Given the description of an element on the screen output the (x, y) to click on. 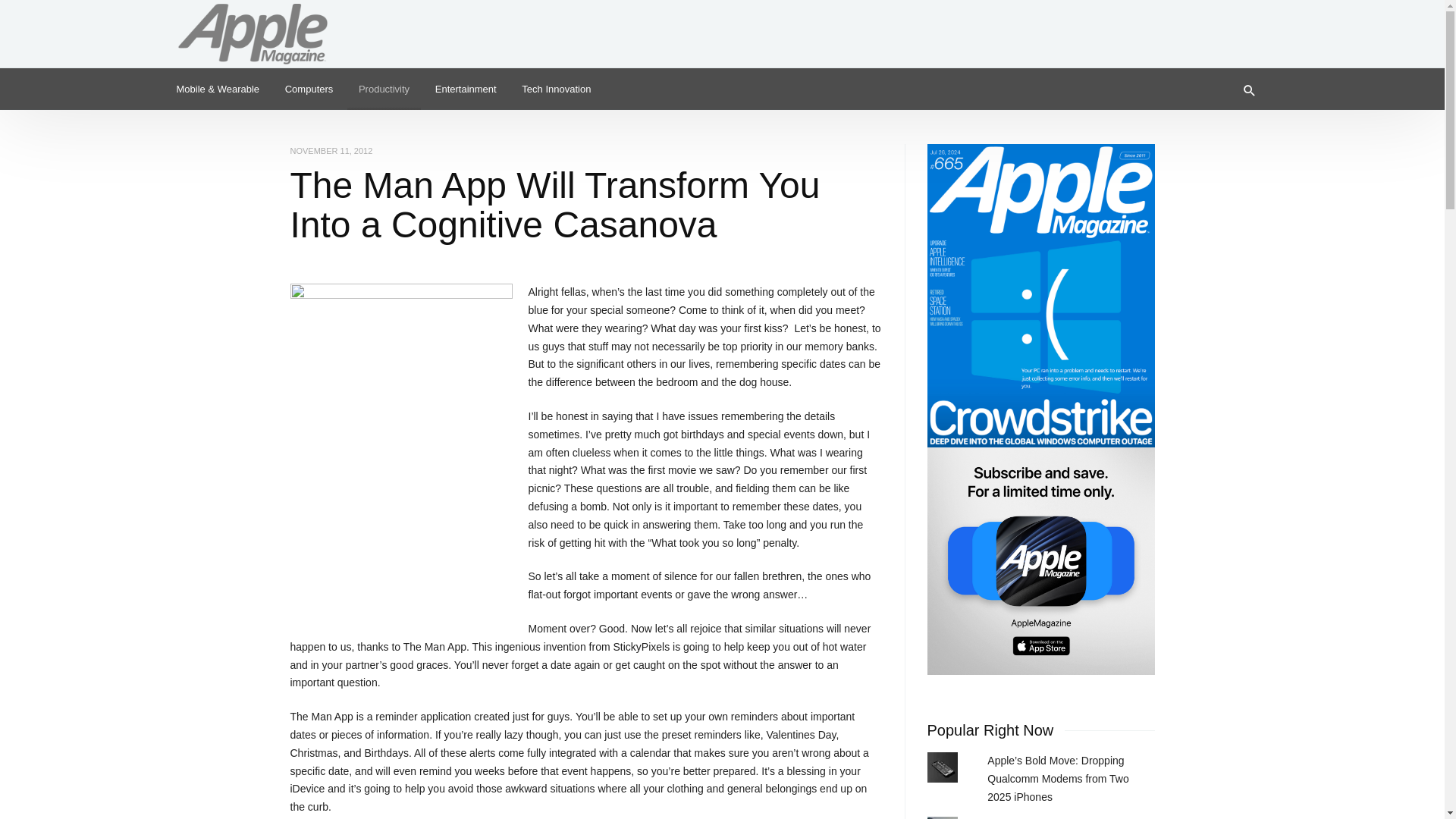
Productivity (383, 88)
Tech Innovation (556, 88)
Twitter (1203, 26)
Entertainment (465, 88)
Computers (309, 88)
Instagram (1228, 26)
Facebook (1252, 26)
